Given the description of an element on the screen output the (x, y) to click on. 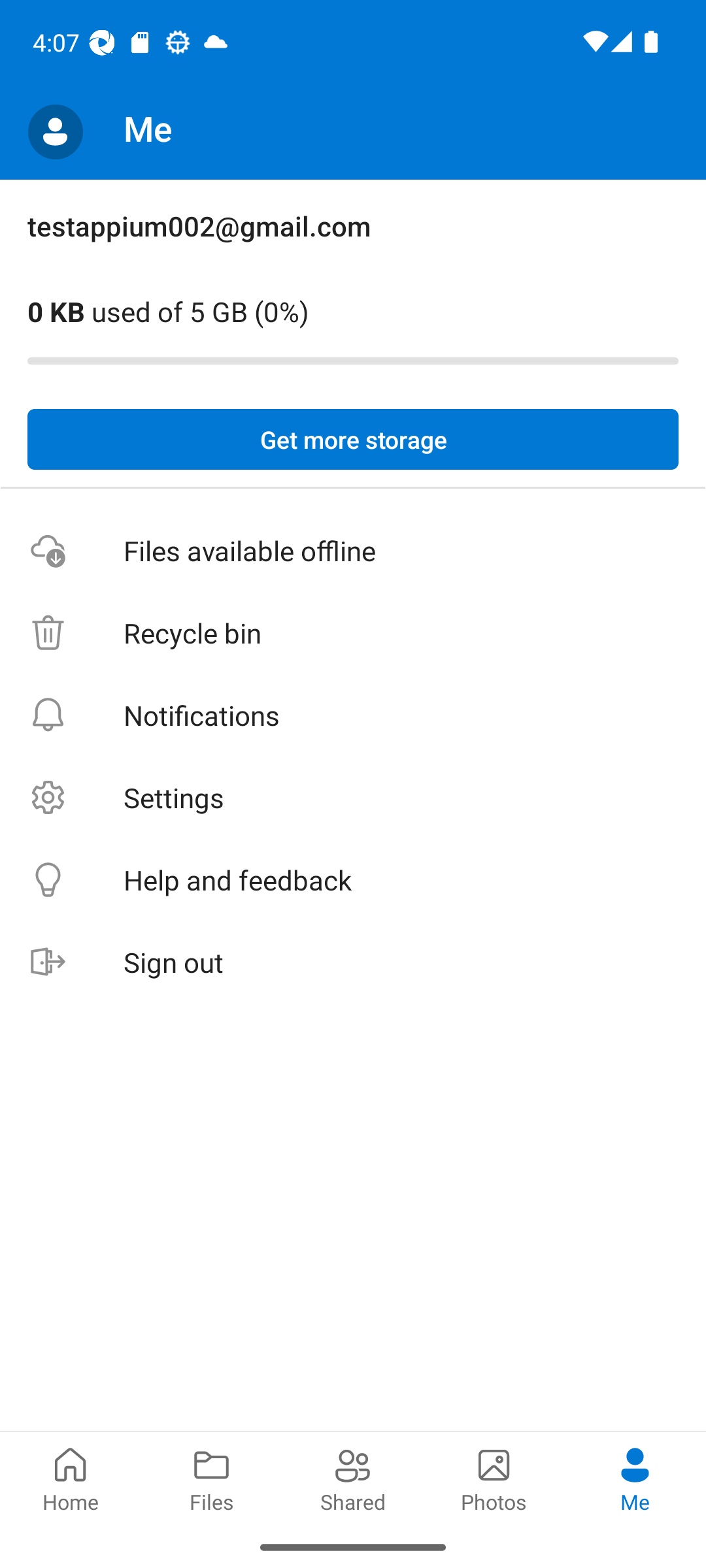
Account switcher (55, 131)
Get more storage (352, 439)
Files available offline (353, 550)
Recycle bin (353, 633)
Notifications (353, 714)
Settings (353, 796)
Help and feedback (353, 879)
Sign out (353, 962)
Home pivot Home (70, 1478)
Files pivot Files (211, 1478)
Shared pivot Shared (352, 1478)
Photos pivot Photos (493, 1478)
